Given the description of an element on the screen output the (x, y) to click on. 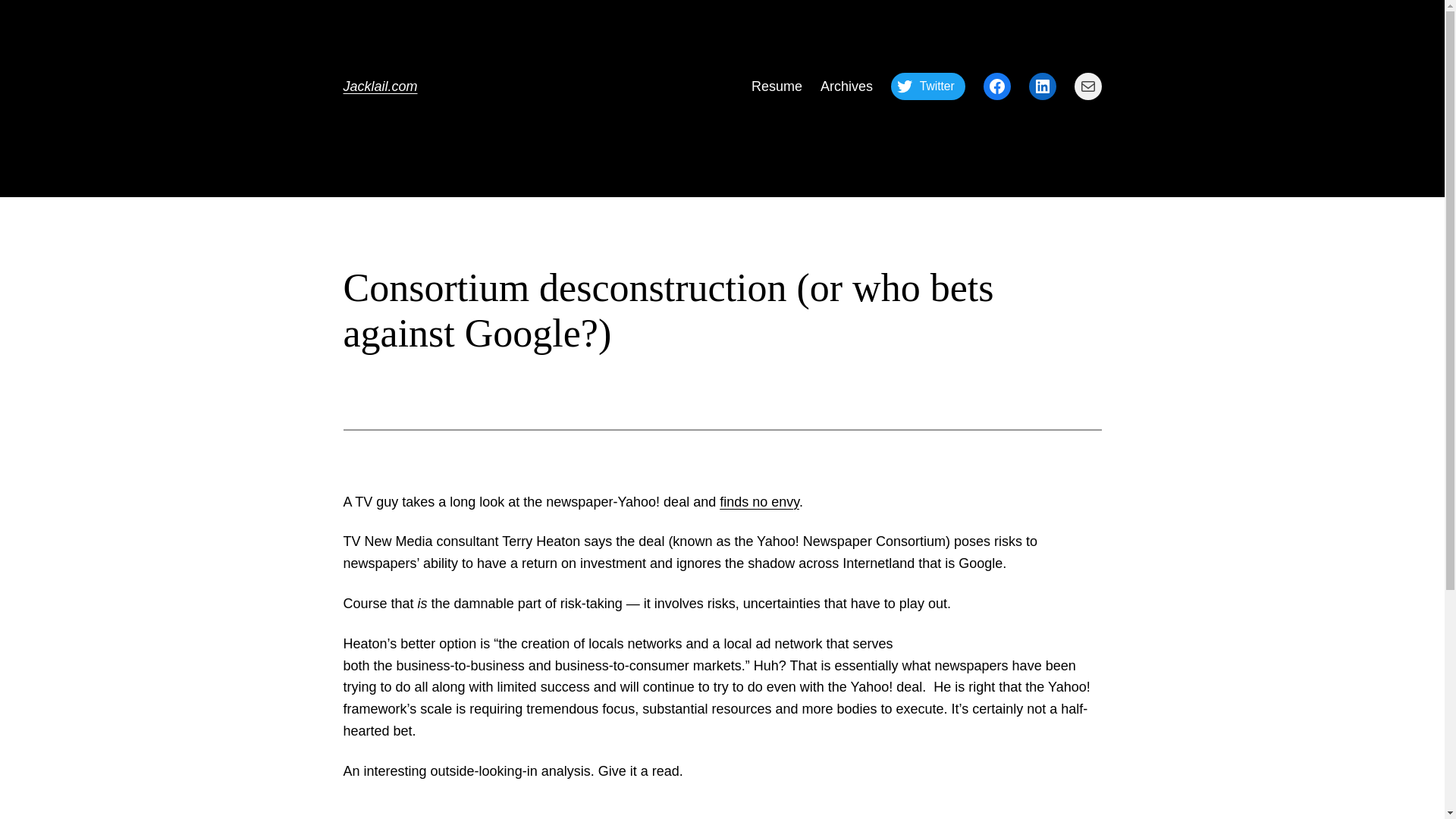
Facebook (996, 85)
LinkedIn (1041, 85)
Resume (776, 86)
Twitter (928, 85)
Archives (846, 86)
Jacklail.com (379, 86)
Archives (846, 86)
finds no envy (759, 501)
Mail (1087, 85)
